Given the description of an element on the screen output the (x, y) to click on. 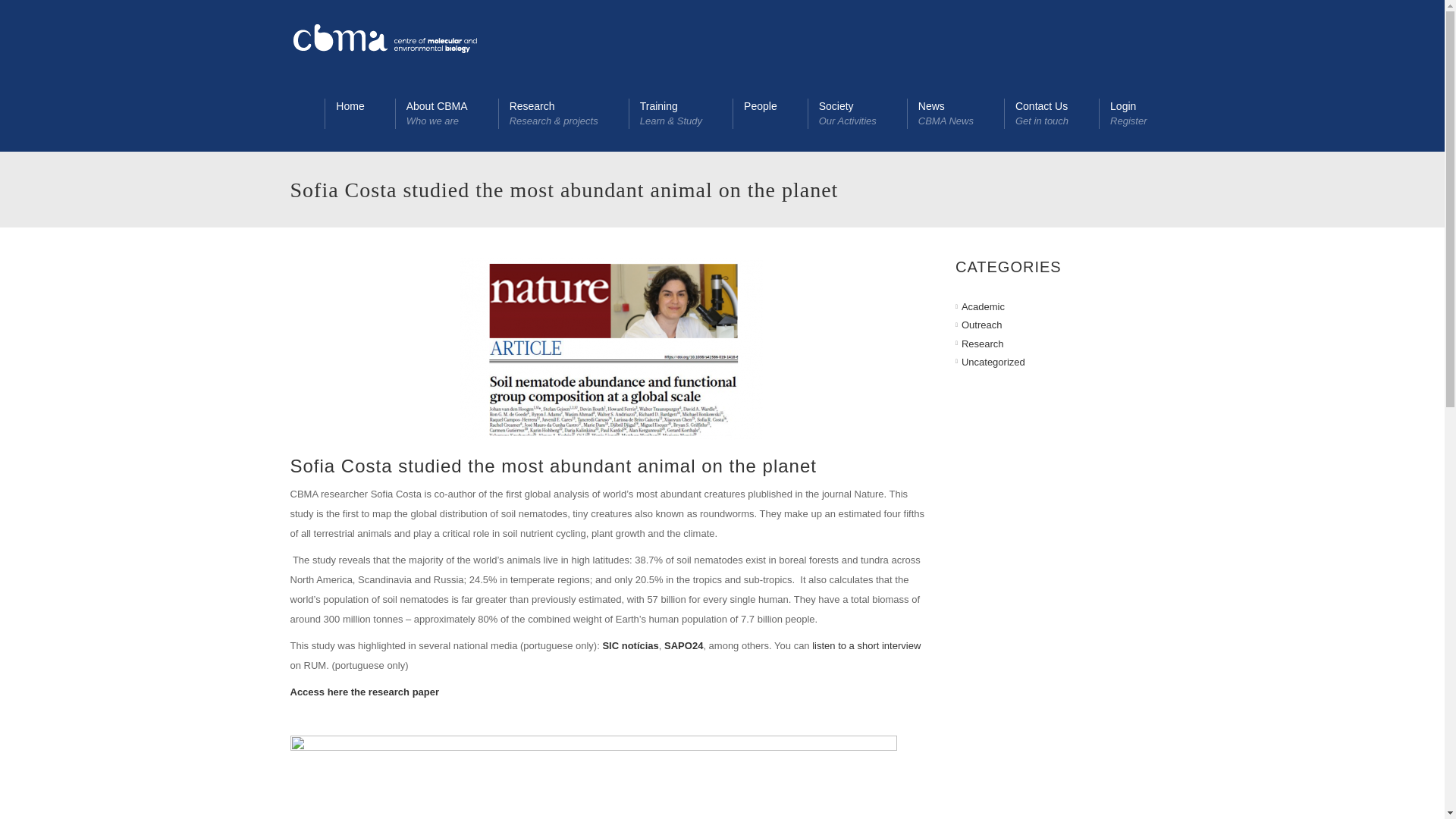
Home (445, 113)
Sofia Costa studied the most abundant animal on the planet (359, 113)
